Given the description of an element on the screen output the (x, y) to click on. 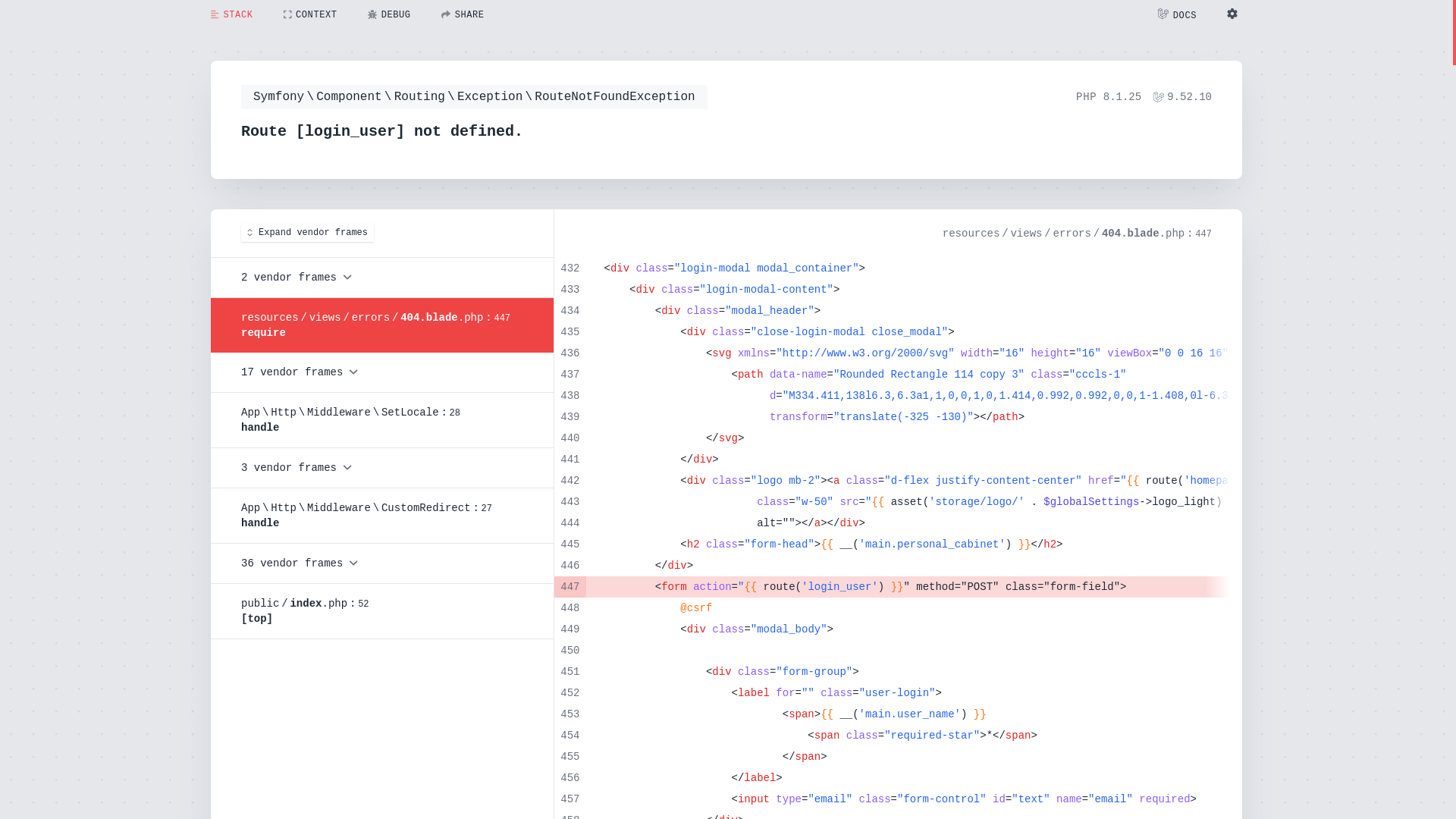
DEBUG Element type: text (389, 15)
SHARE Element type: text (462, 14)
Expand vendor frames Element type: text (307, 232)
CONTEXT Element type: text (310, 14)
STACK Element type: text (231, 15)
DOCS Element type: text (1176, 15)
SHARE Element type: text (462, 15)
CONTEXT Element type: text (310, 15)
DEBUG Element type: text (389, 14)
STACK Element type: text (231, 14)
DOCS Element type: text (1176, 14)
Route [login_user] not defined. Element type: text (323, 15)
